Given the description of an element on the screen output the (x, y) to click on. 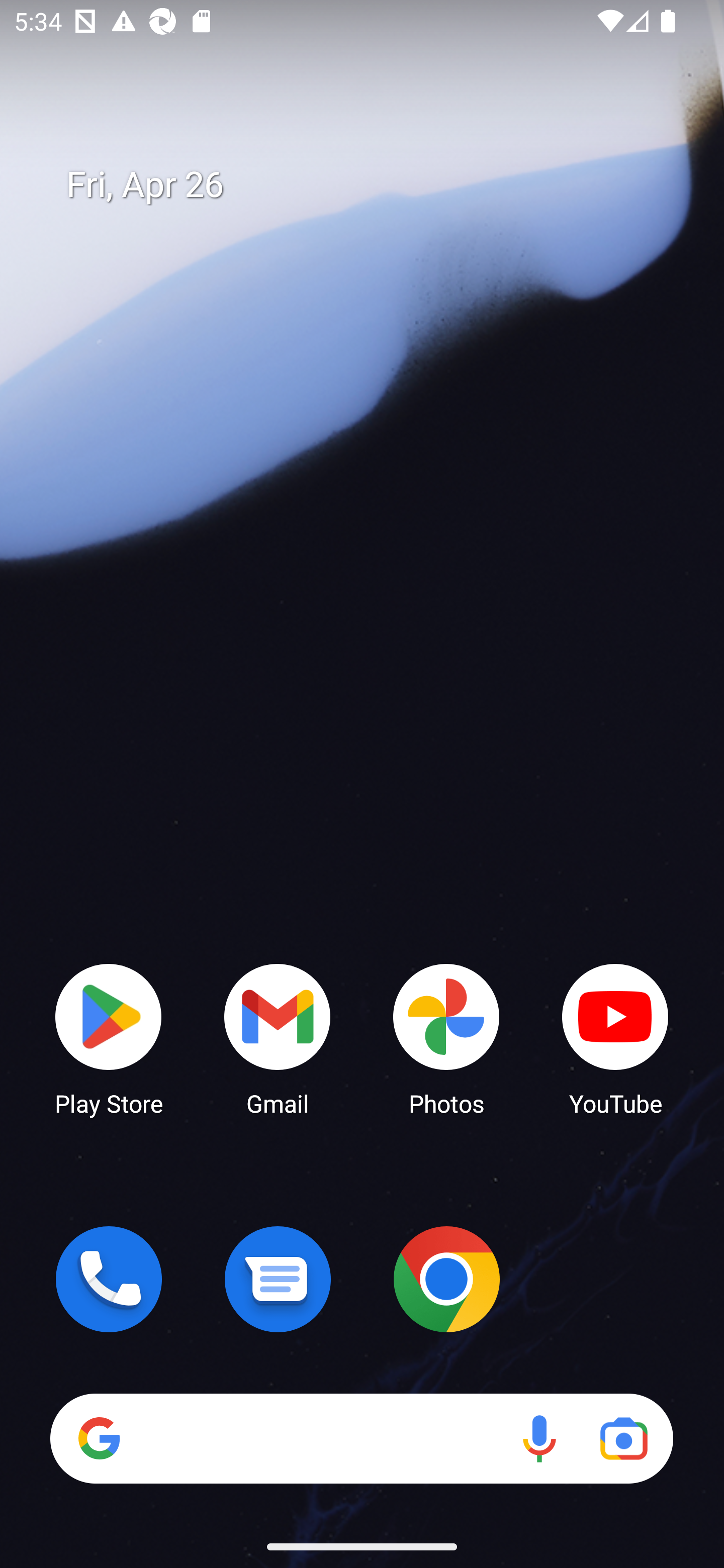
Fri, Apr 26 (375, 184)
Play Store (108, 1038)
Gmail (277, 1038)
Photos (445, 1038)
YouTube (615, 1038)
Phone (108, 1279)
Messages (277, 1279)
Chrome (446, 1279)
Search Voice search Google Lens (361, 1438)
Voice search (539, 1438)
Google Lens (623, 1438)
